Given the description of an element on the screen output the (x, y) to click on. 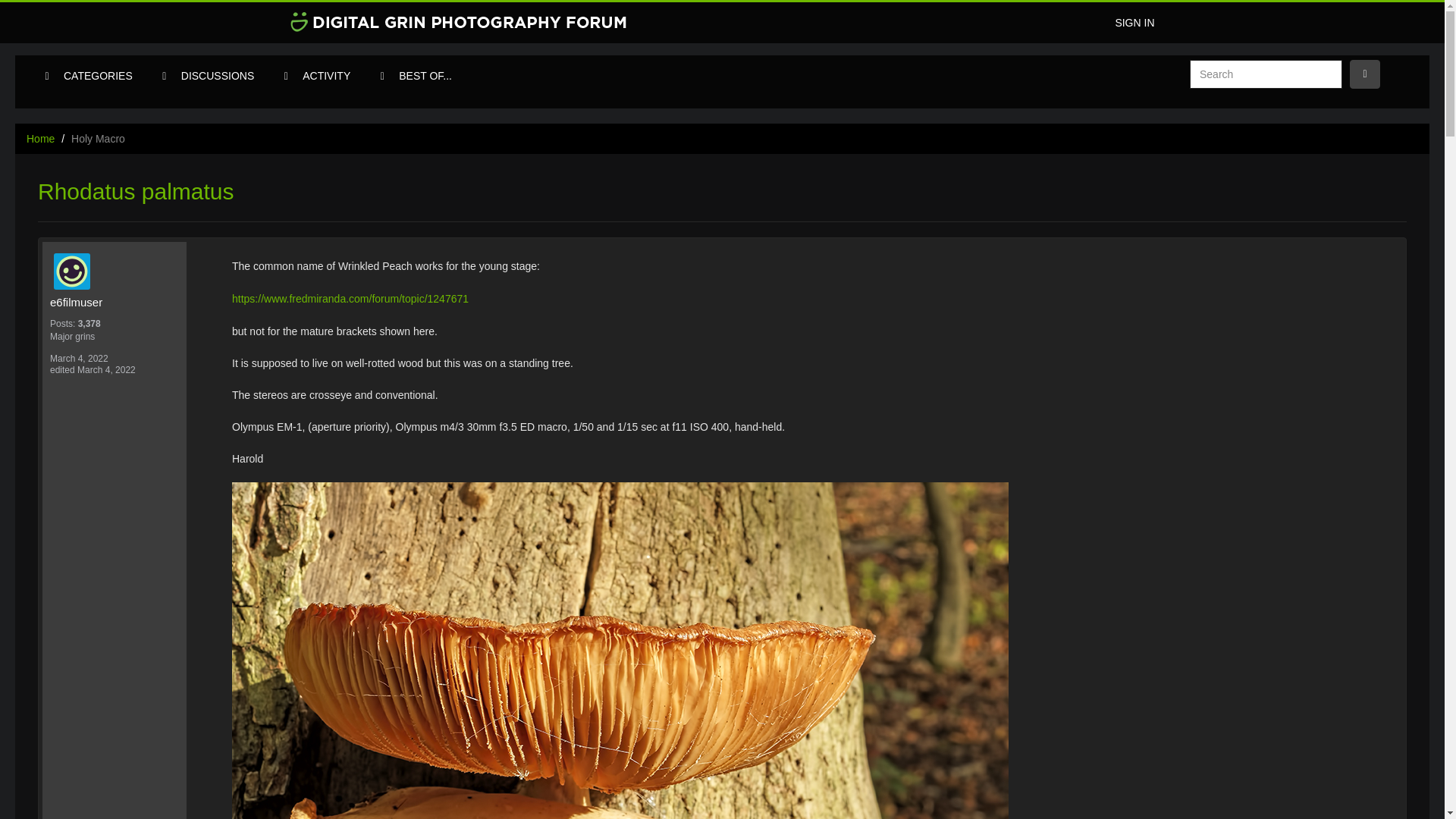
DISCUSSIONS (217, 75)
March 4, 2022 (78, 357)
Home (40, 138)
Options (1364, 73)
SIGN IN (1134, 22)
e6filmuser (118, 271)
Holy Macro (98, 138)
CATEGORIES (98, 75)
Edited March 4, 2022 8:07AM by e6filmuser. (92, 369)
e6filmuser (114, 302)
